Given the description of an element on the screen output the (x, y) to click on. 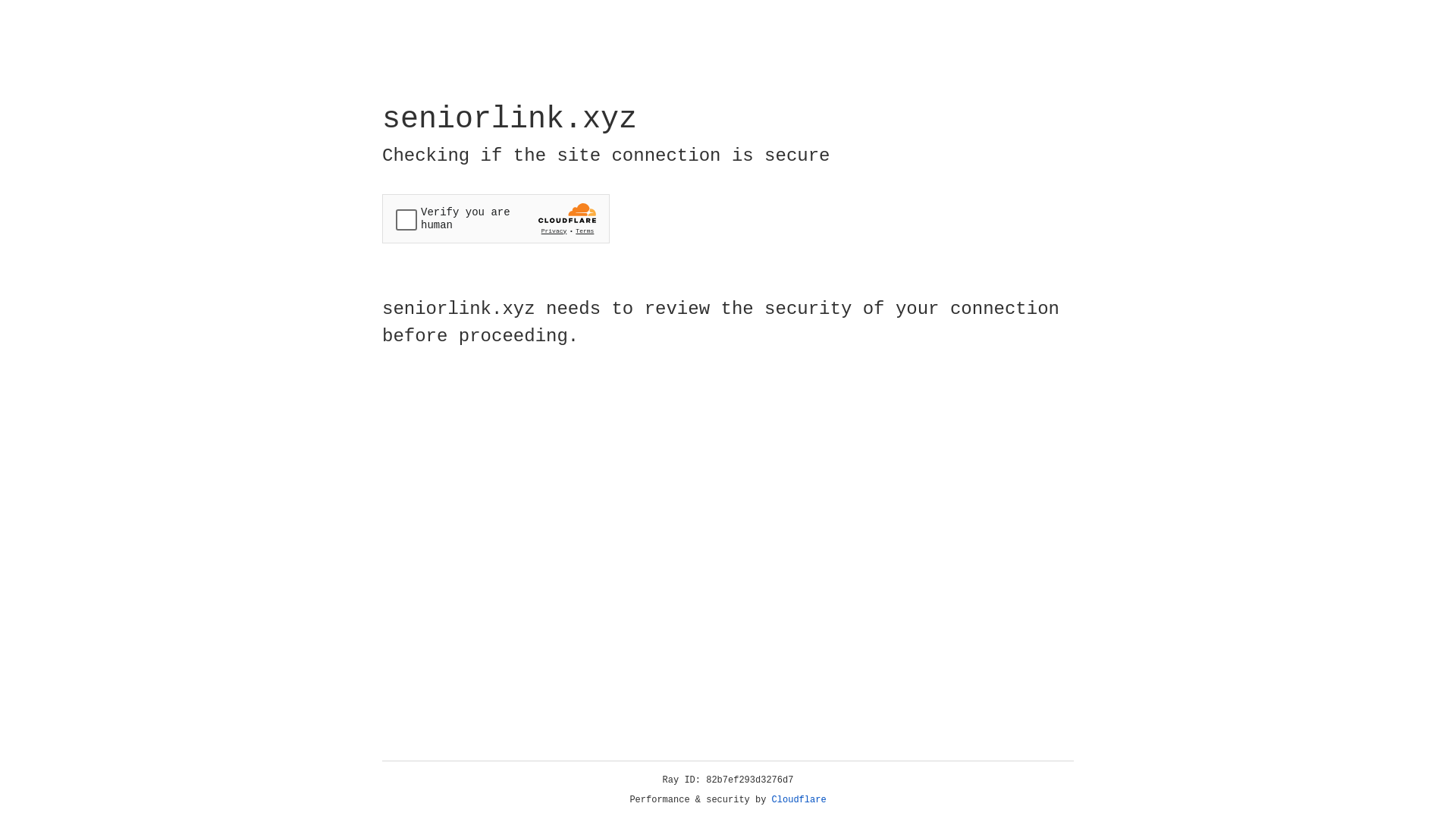
Widget containing a Cloudflare security challenge Element type: hover (495, 218)
Cloudflare Element type: text (798, 799)
